Given the description of an element on the screen output the (x, y) to click on. 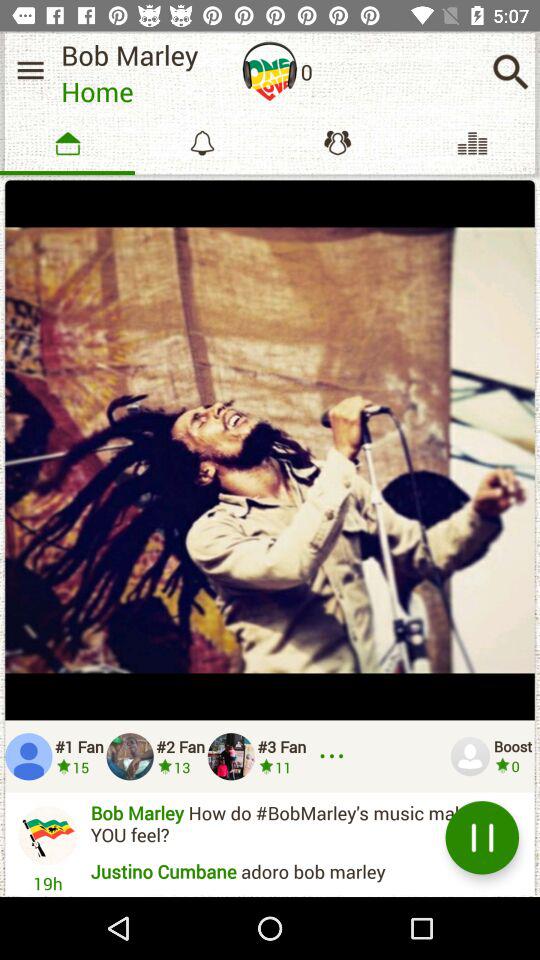
click item next to bob marley icon (269, 71)
